Given the description of an element on the screen output the (x, y) to click on. 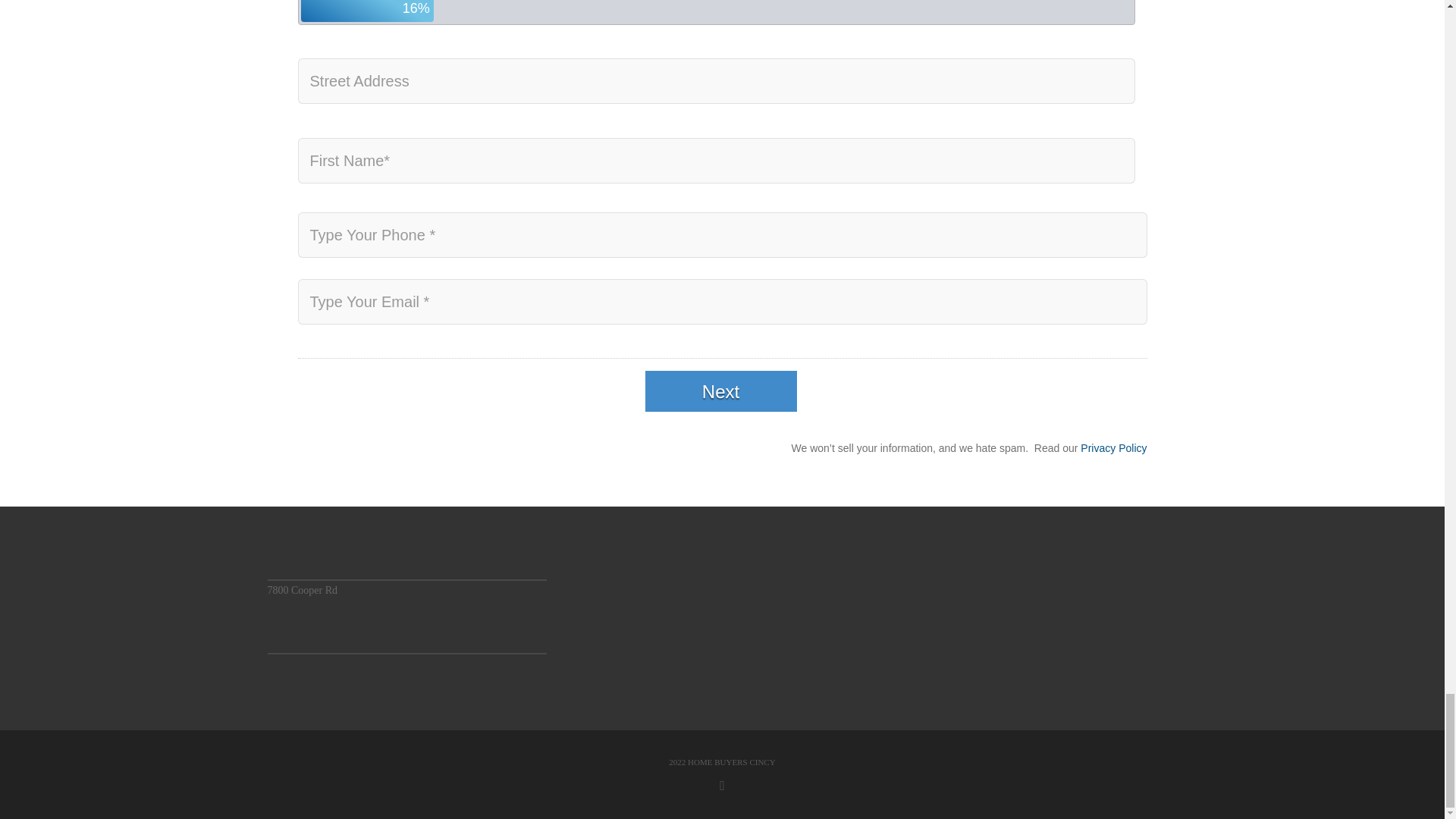
Privacy Policy (1113, 448)
Next (720, 391)
